Given the description of an element on the screen output the (x, y) to click on. 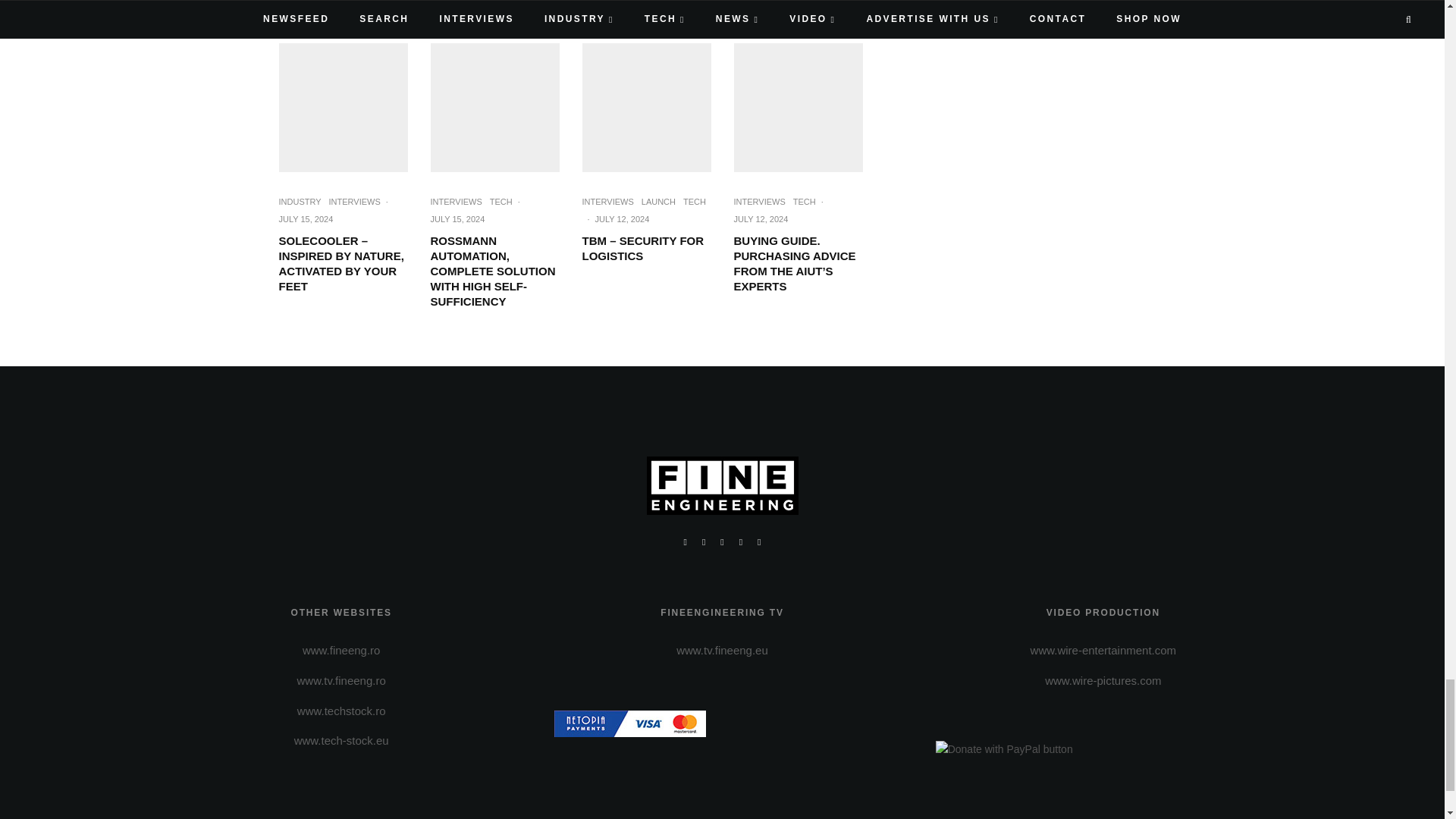
PayPal - The safer, easier way to pay online! (1004, 749)
